Given the description of an element on the screen output the (x, y) to click on. 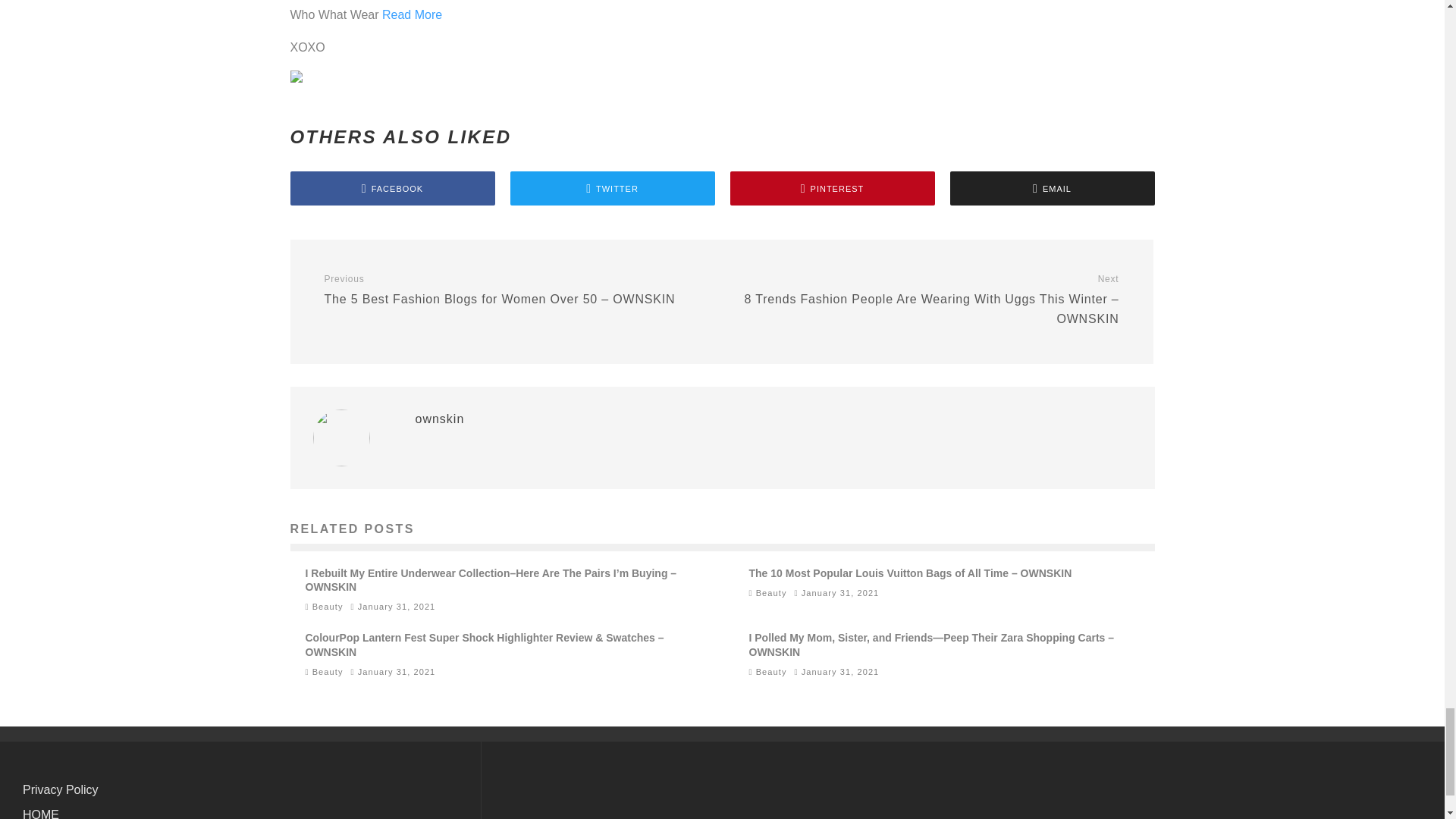
Beauty (328, 671)
Privacy Policy (61, 789)
FACEBOOK (392, 188)
HOME (41, 813)
Beauty (328, 606)
EMAIL (1051, 188)
ownskin (439, 418)
Read More (411, 14)
Beauty (771, 671)
PINTEREST (831, 188)
